Given the description of an element on the screen output the (x, y) to click on. 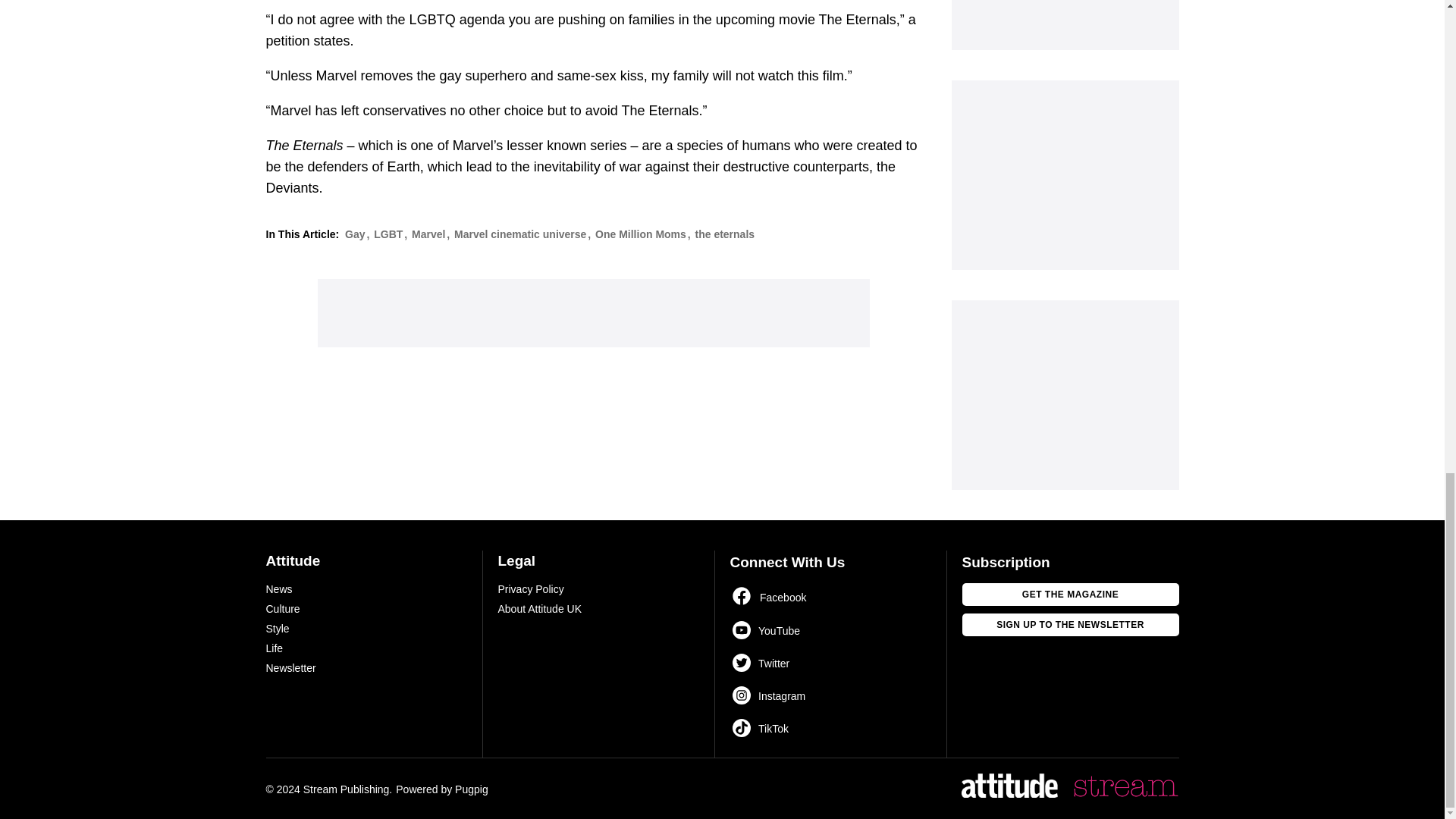
3rd party ad content (1063, 24)
